Given the description of an element on the screen output the (x, y) to click on. 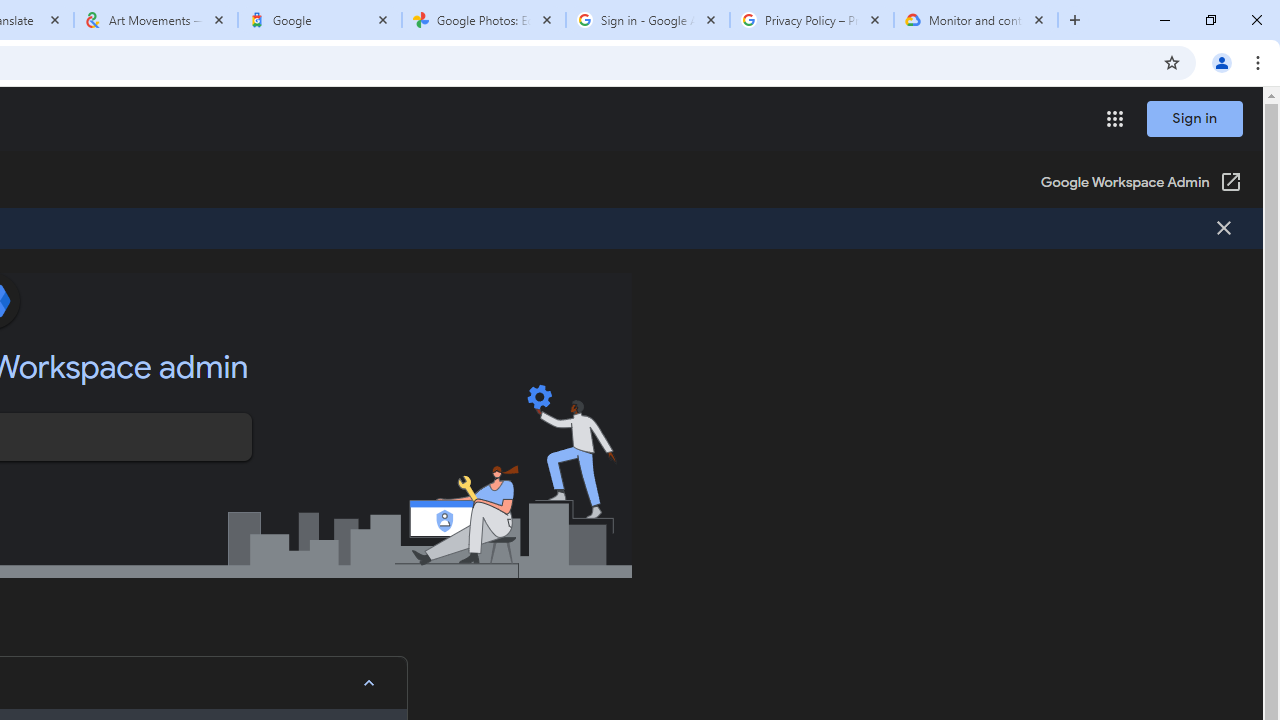
Google Workspace Admin (Open in a new window) (1140, 183)
Sign in - Google Accounts (647, 20)
